Given the description of an element on the screen output the (x, y) to click on. 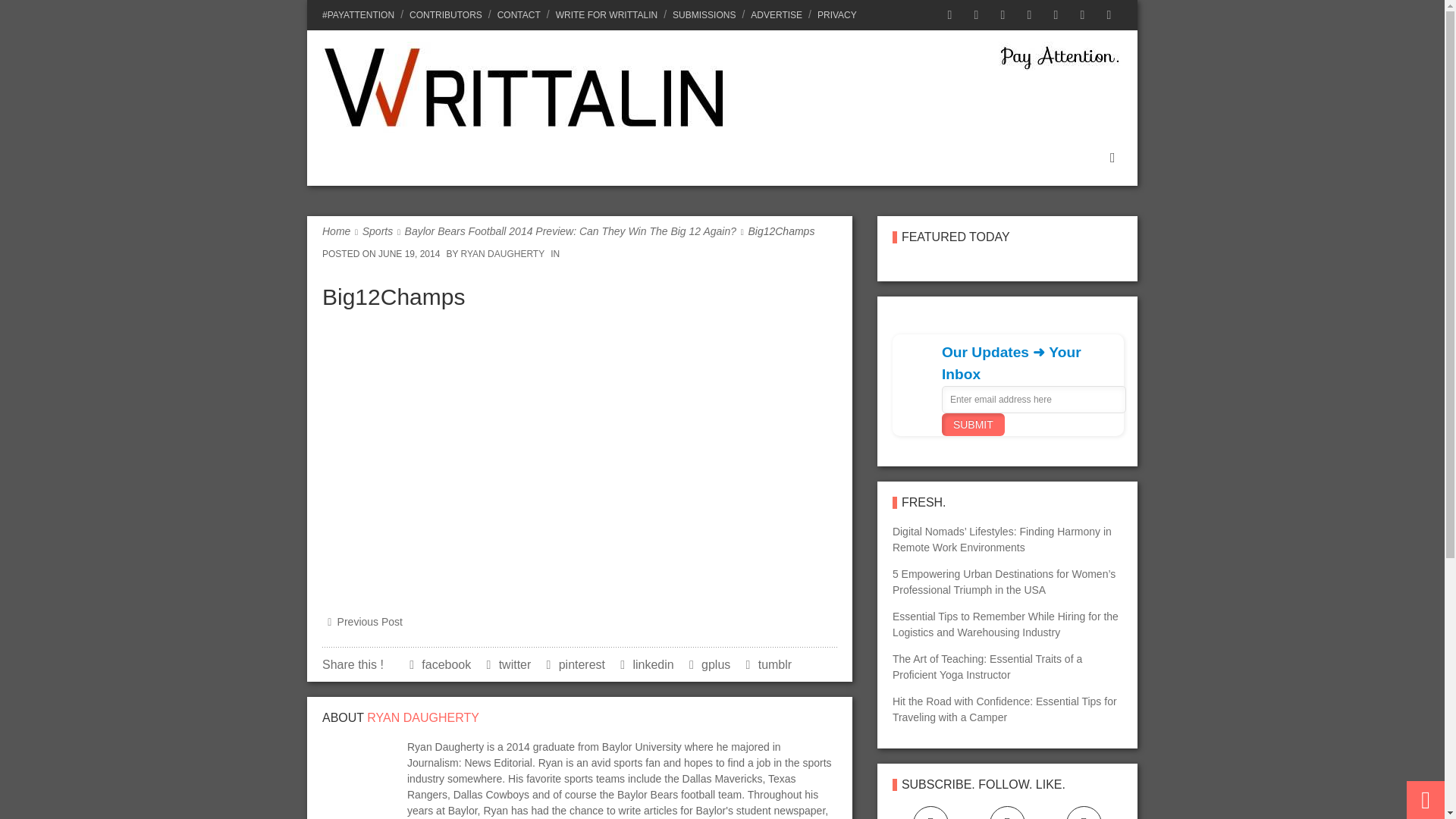
Posts by Ryan Daugherty (422, 717)
ADVERTISE (776, 14)
Submit (973, 424)
WRITE FOR WRITTALIN (606, 14)
SUBMISSIONS (703, 14)
MISC (958, 157)
Enter email address here (1033, 399)
MUSIC (805, 157)
PRIVACY (833, 14)
